Given the description of an element on the screen output the (x, y) to click on. 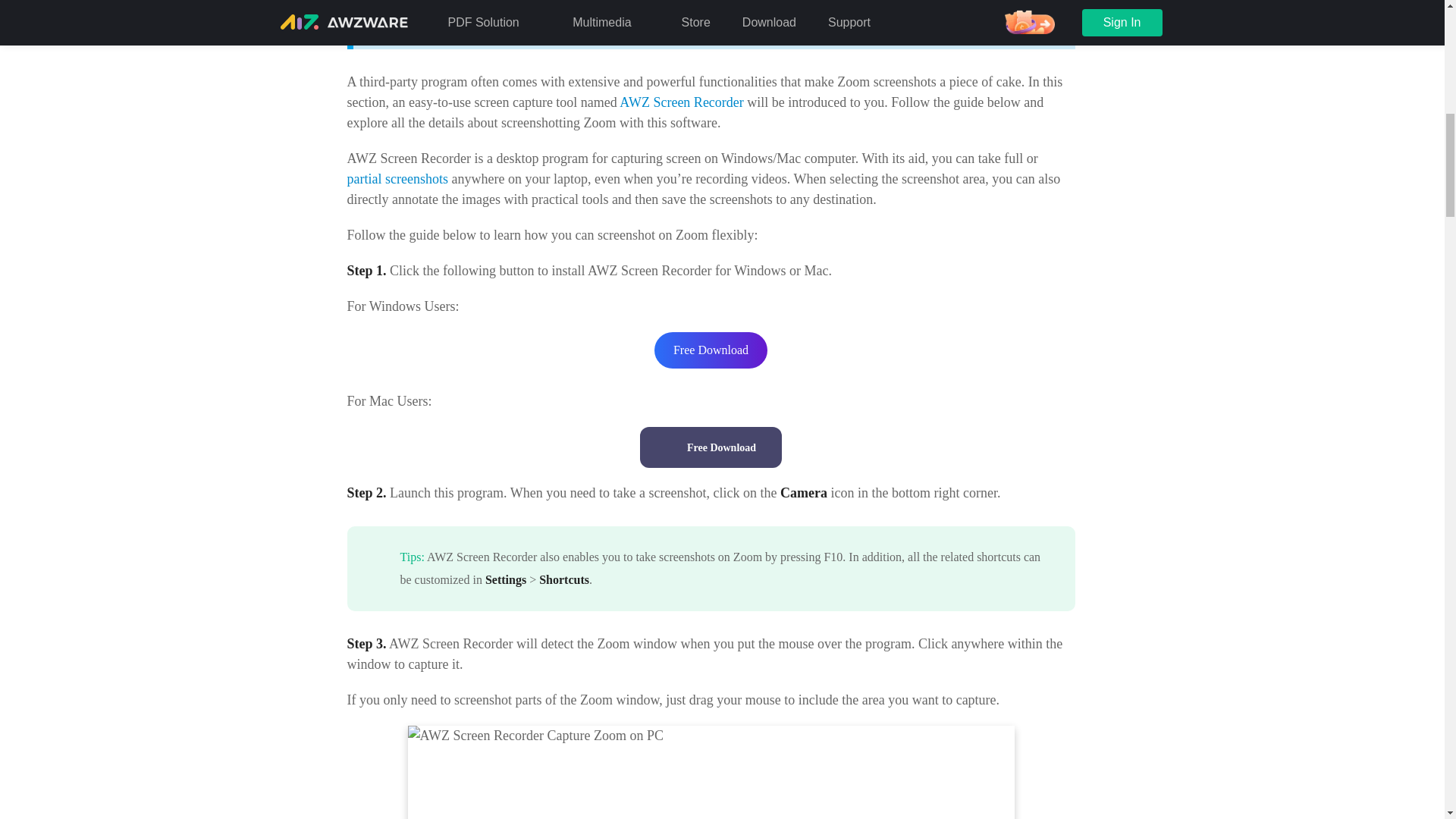
 Free Download (710, 446)
partial screenshots (397, 178)
Free Download (710, 350)
AWZ Screen Recorder (681, 102)
